Given the description of an element on the screen output the (x, y) to click on. 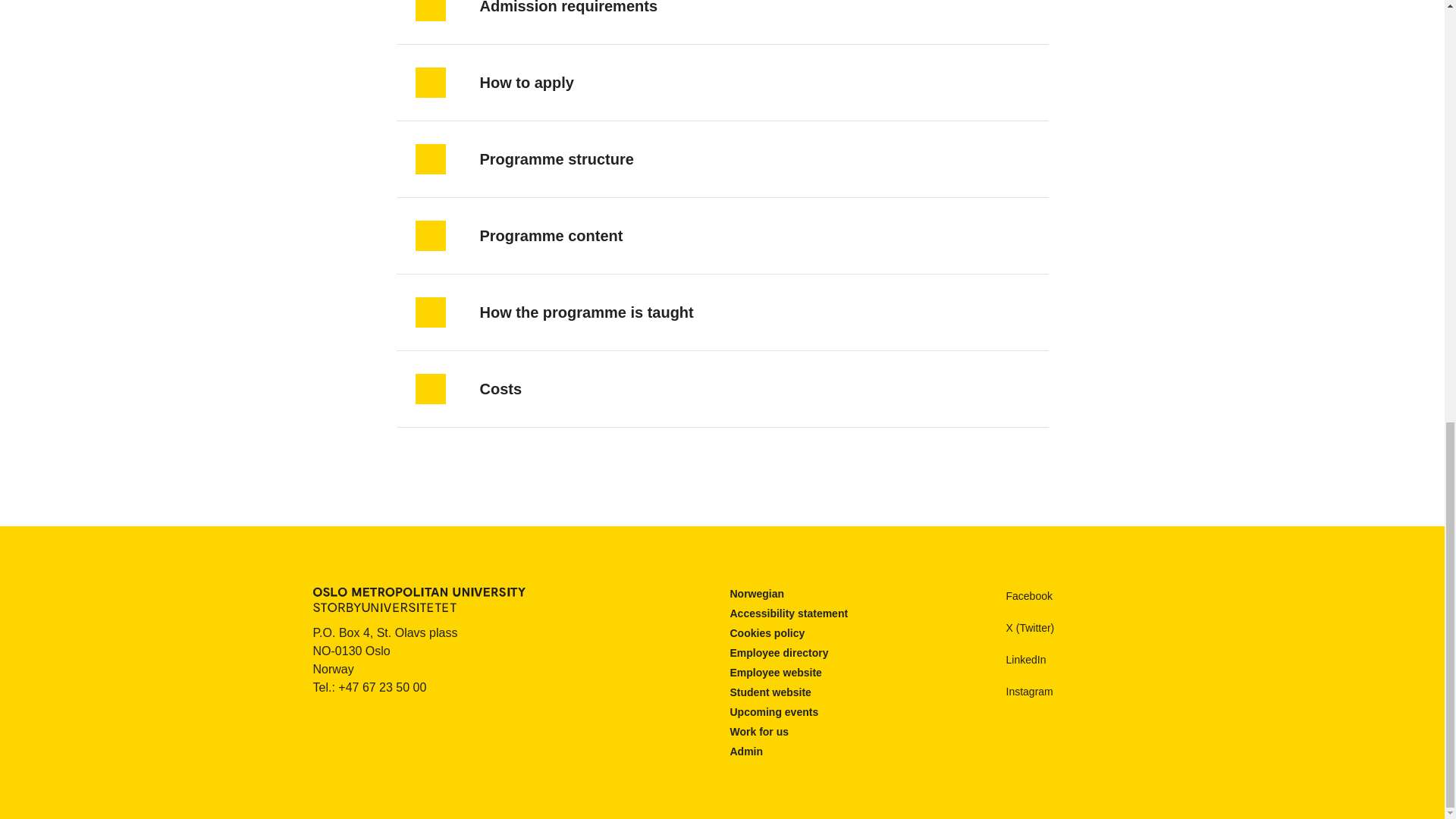
Work for us (759, 731)
Norwegian (756, 594)
Employee directory (778, 653)
Accessibility statement (788, 613)
Employee website (775, 672)
Cookies policy (767, 633)
Facebook (1015, 596)
Admin (745, 751)
Instagram (1015, 691)
Student website (769, 692)
Upcoming events (773, 712)
LinkedIn (1012, 659)
